Given the description of an element on the screen output the (x, y) to click on. 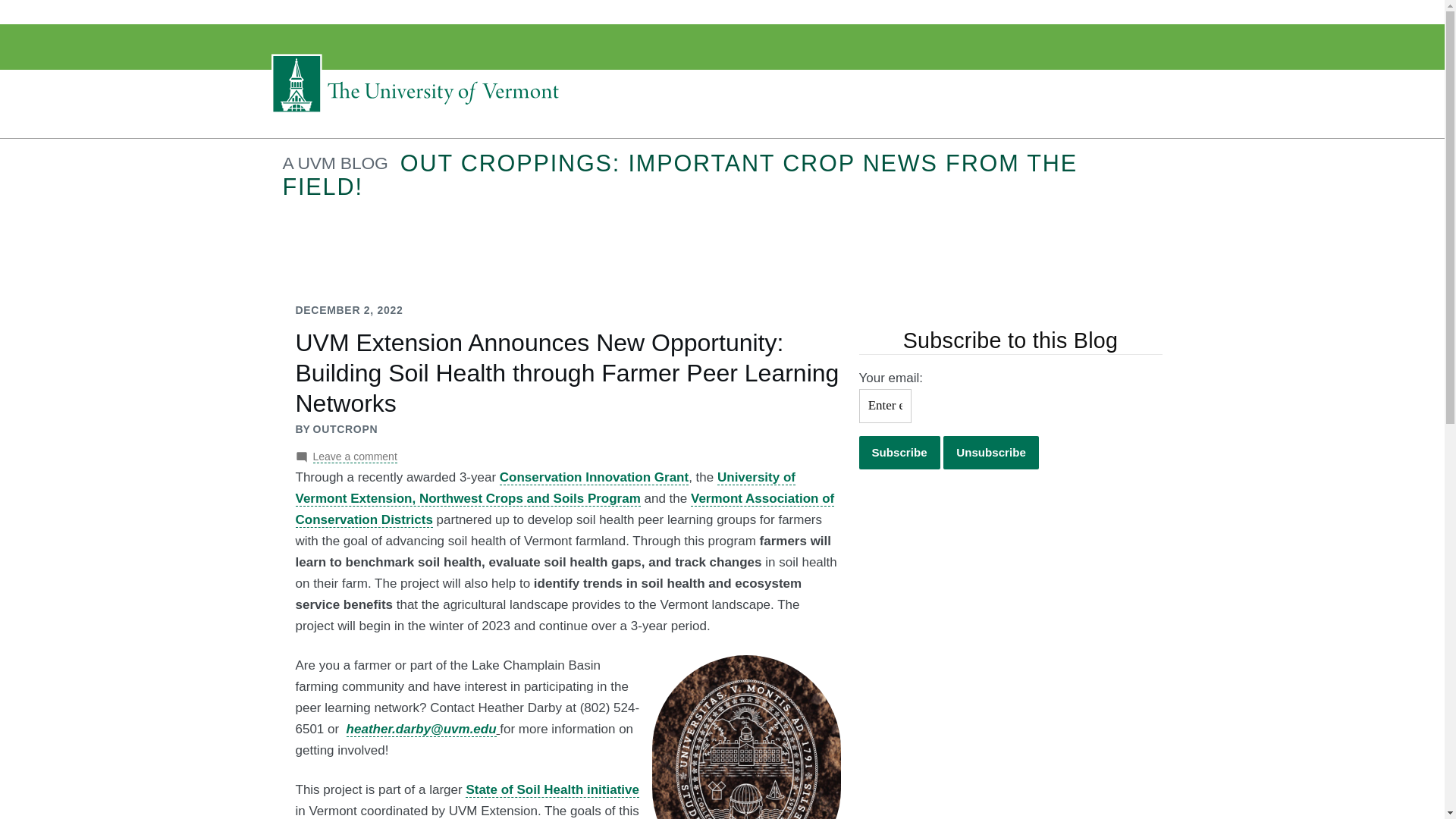
Subscribe (899, 452)
Unsubscribe (991, 452)
Home (418, 113)
Enter email address... (885, 406)
OUT CROPPINGS: IMPORTANT CROP NEWS FROM THE FIELD! (679, 174)
State of Soil Health initiative (552, 789)
Subscribe (899, 452)
DECEMBER 2, 2022 (349, 309)
